Given the description of an element on the screen output the (x, y) to click on. 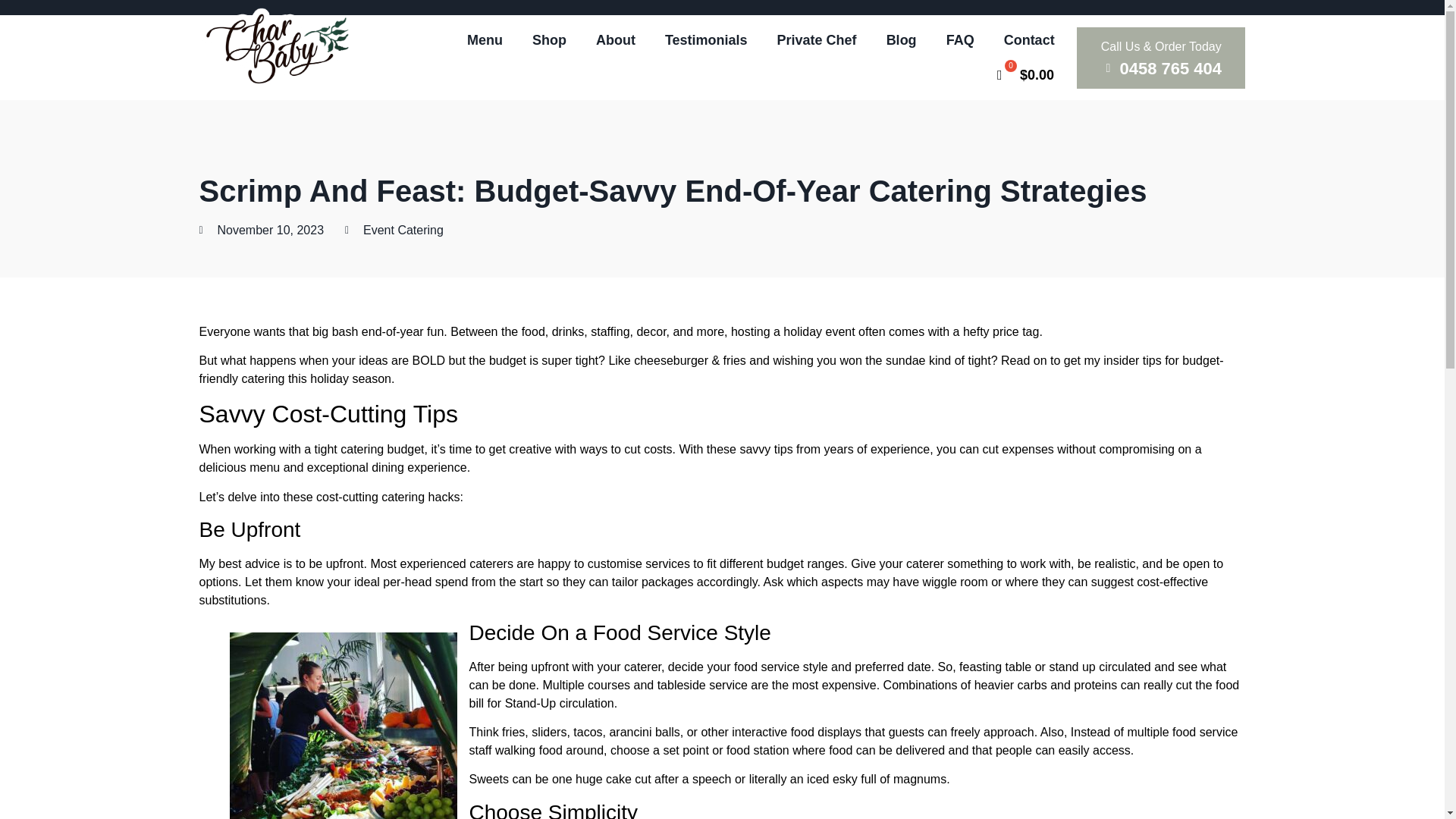
Blog (901, 39)
Shop (548, 39)
Contact (1028, 39)
0458 765 404 (1161, 68)
Event Catering (403, 229)
November 10, 2023 (260, 230)
FAQ (960, 39)
Menu (485, 39)
Testimonials (706, 39)
Private Chef (817, 39)
About (615, 39)
